Given the description of an element on the screen output the (x, y) to click on. 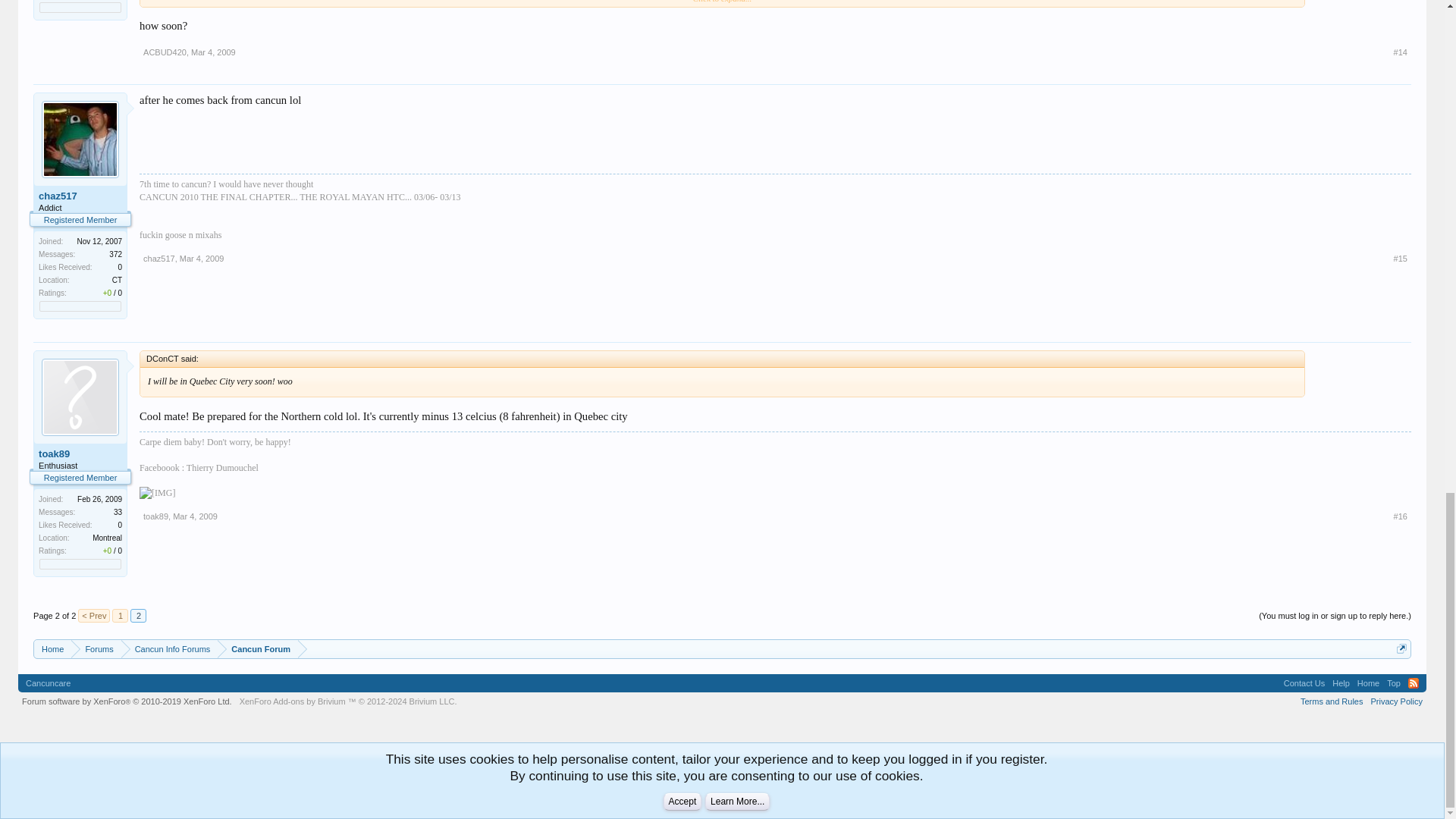
Permalink (1400, 51)
Permalink (201, 257)
Permalink (212, 51)
Permalink (194, 515)
ACBUD420 (164, 51)
Permalink (1400, 258)
